Given the description of an element on the screen output the (x, y) to click on. 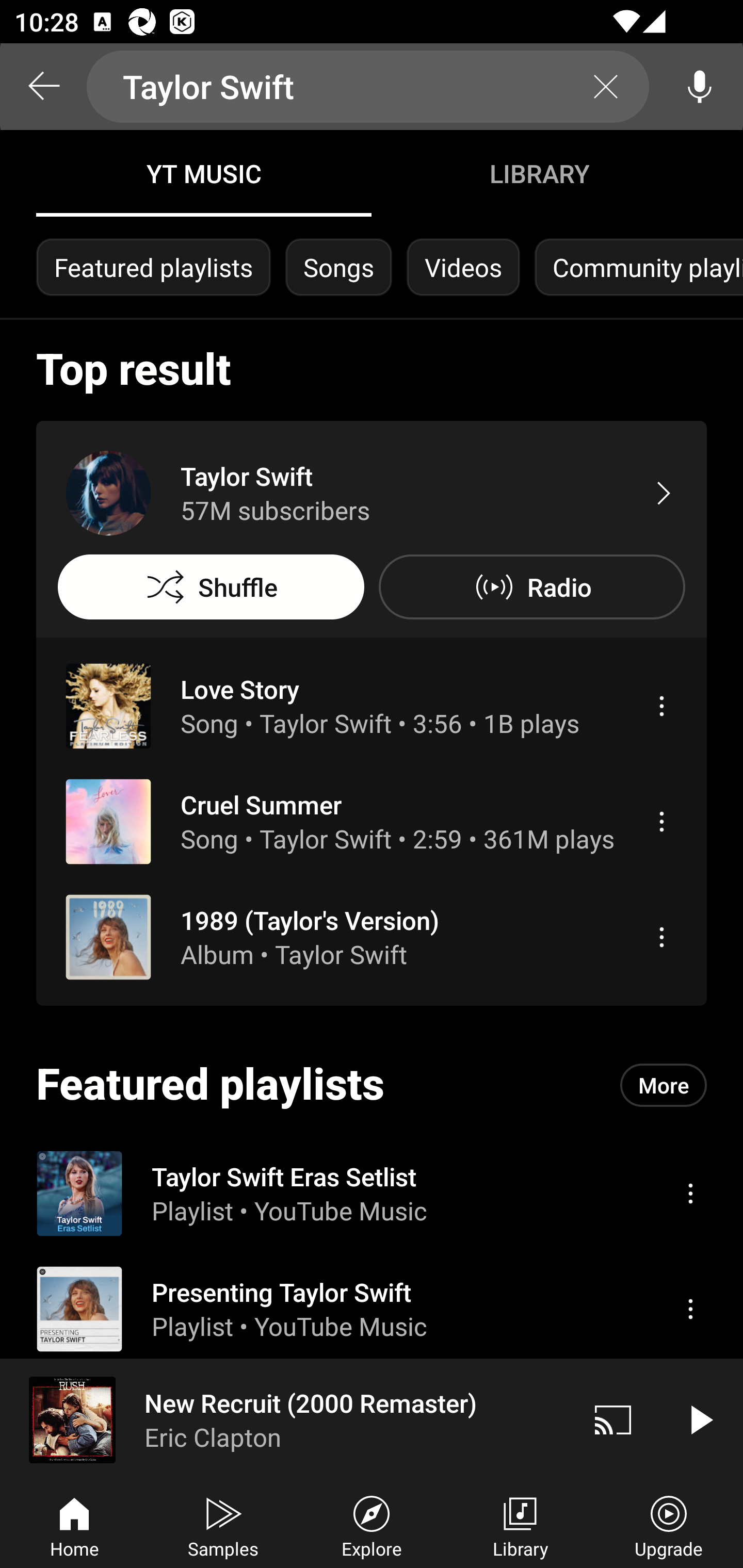
Search back (43, 86)
Taylor Swift (367, 86)
Clear search (605, 86)
Voice search (699, 86)
Library LIBRARY (538, 173)
Shuffle (210, 587)
Radio (531, 587)
Menu (661, 705)
Menu (661, 821)
Menu (661, 937)
Featured playlists More More (371, 1084)
More (663, 1085)
Menu (690, 1193)
Menu (690, 1309)
New Recruit (2000 Remaster) Eric Clapton (284, 1419)
Cast. Disconnected (612, 1419)
Play video (699, 1419)
Home (74, 1524)
Samples (222, 1524)
Explore (371, 1524)
Library (519, 1524)
Upgrade (668, 1524)
